Given the description of an element on the screen output the (x, y) to click on. 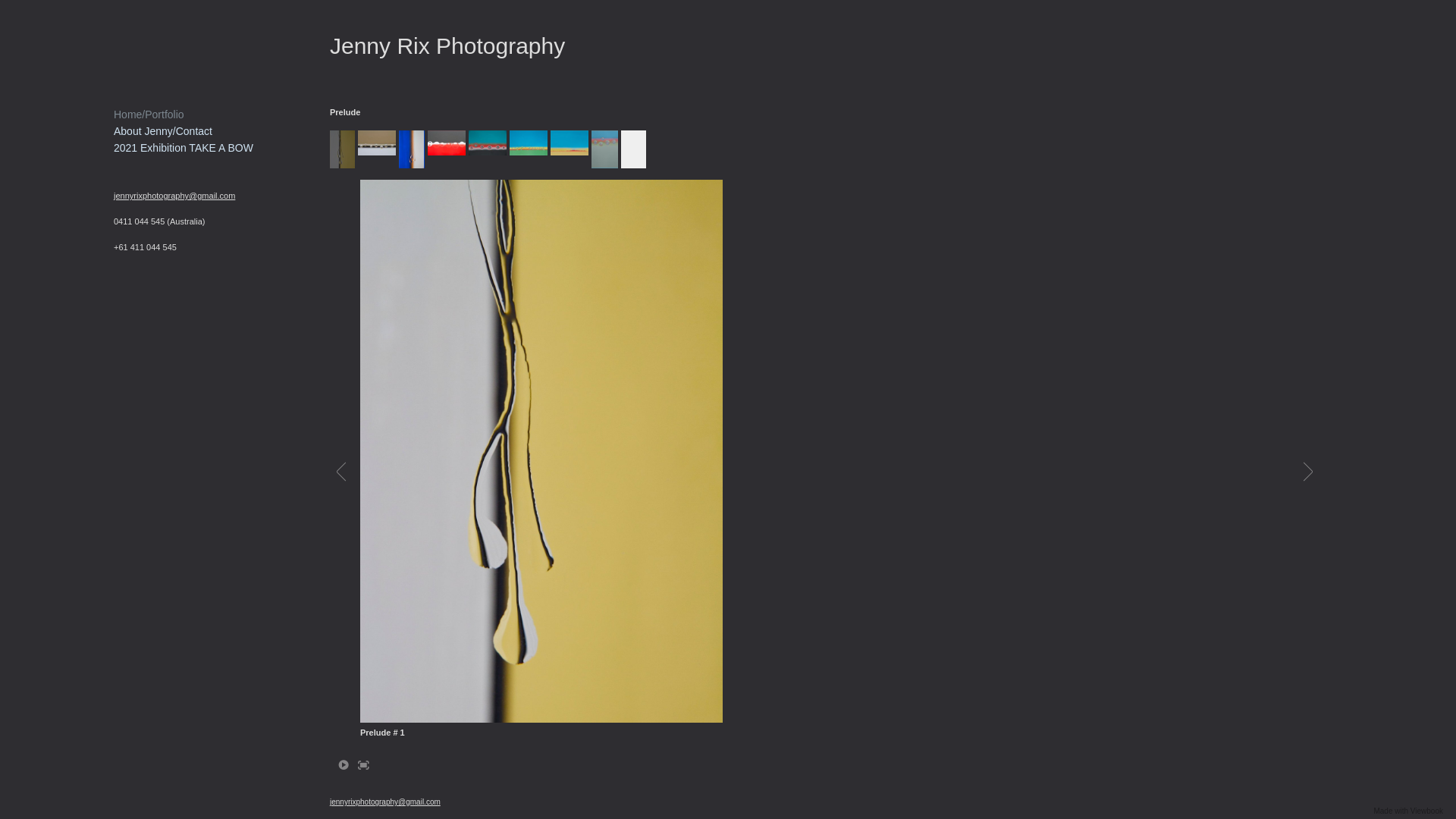
Made with Viewbook Element type: text (1408, 810)
Home/Portfolio Element type: text (148, 114)
jennyrixphotography@gmail.com Element type: text (174, 195)
About Jenny/Contact Element type: text (162, 131)
jennyrixphotography@gmail.com Element type: text (384, 801)
2021 Exhibition TAKE A BOW Element type: text (183, 147)
